Given the description of an element on the screen output the (x, y) to click on. 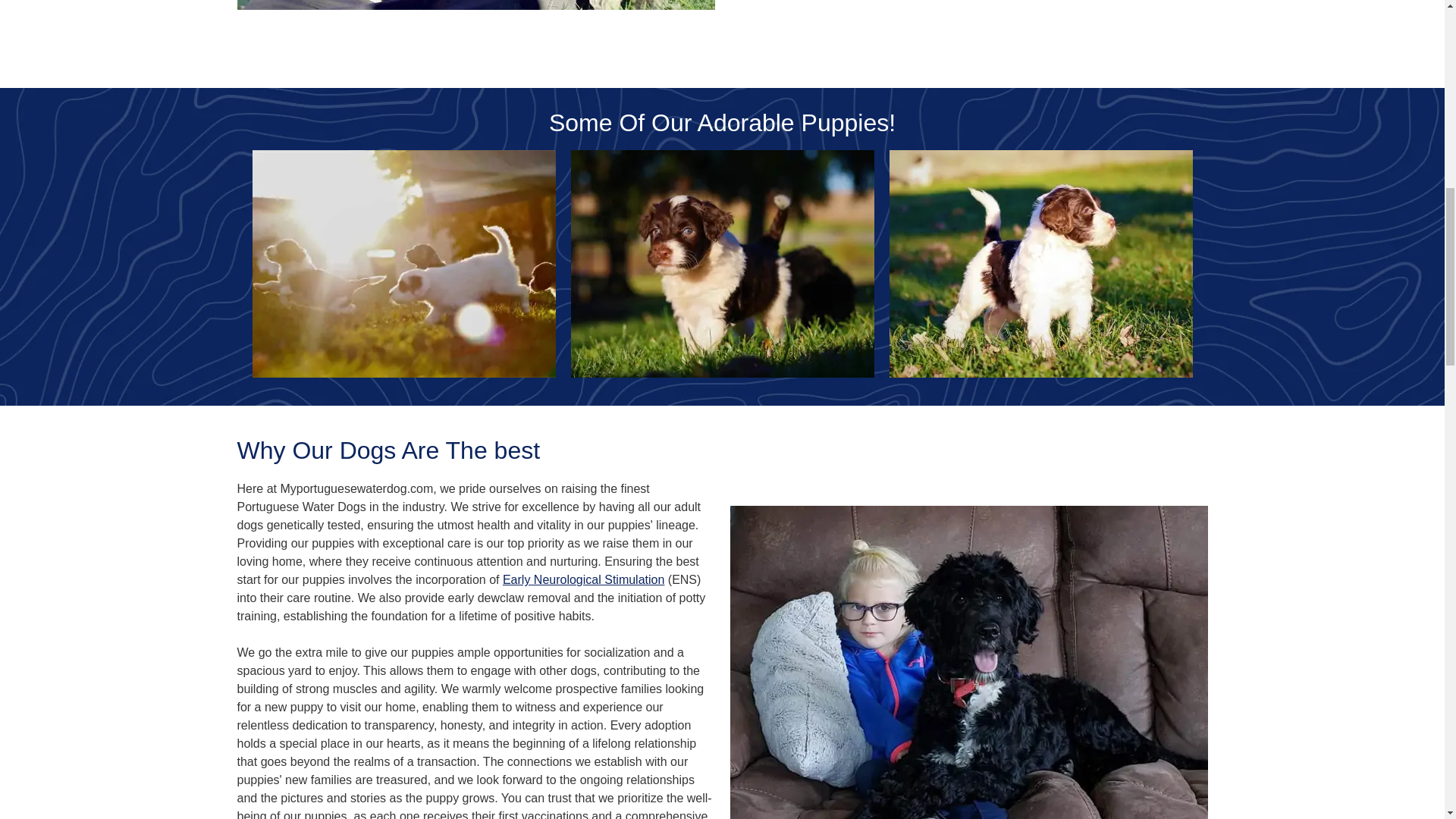
Early Neurological Stimulation (582, 579)
